Given the description of an element on the screen output the (x, y) to click on. 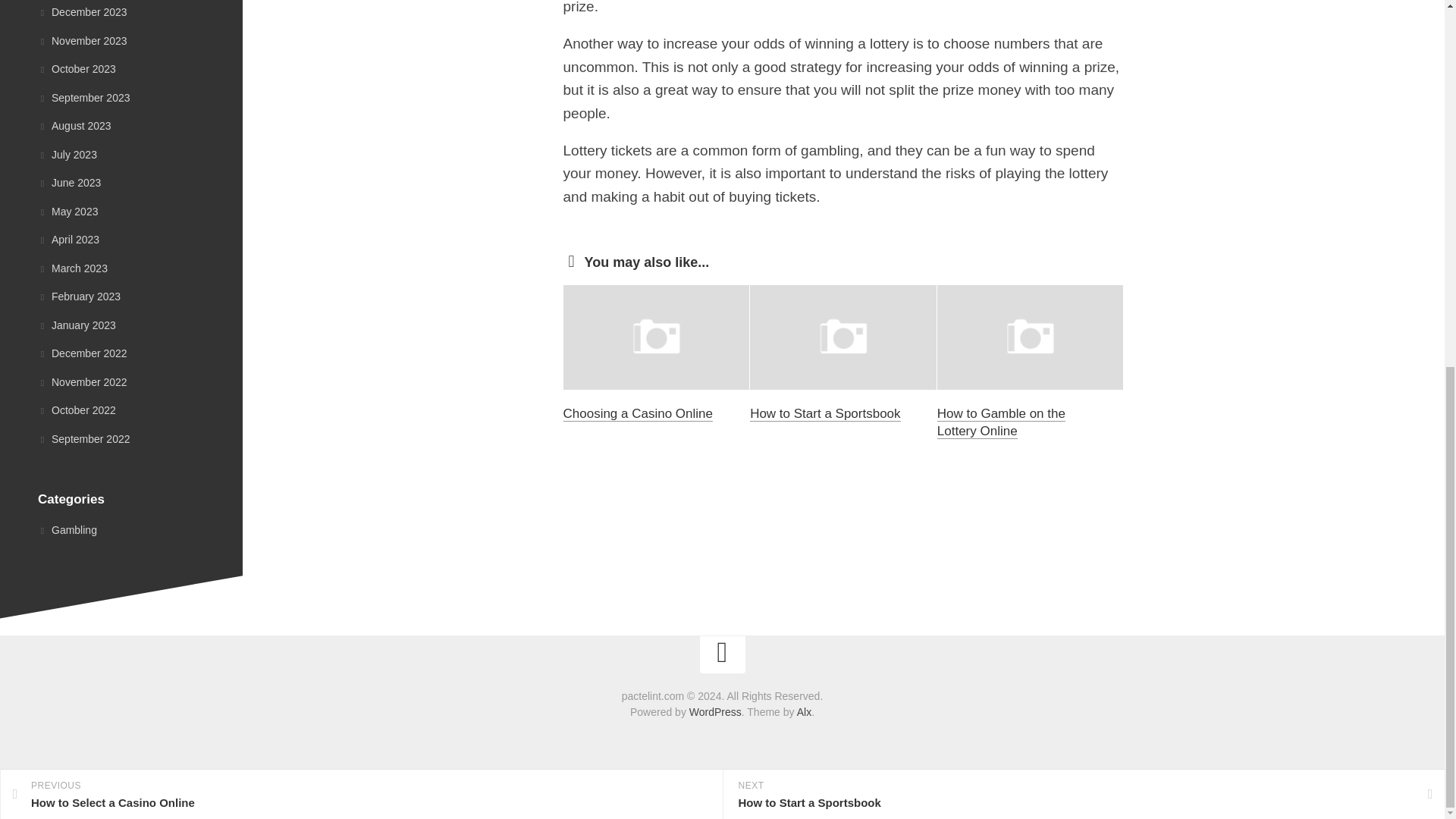
December 2023 (82, 11)
June 2023 (68, 182)
September 2023 (84, 97)
October 2022 (76, 410)
Choosing a Casino Online (637, 413)
July 2023 (67, 153)
May 2023 (67, 211)
How to Start a Sportsbook (824, 413)
January 2023 (76, 325)
August 2023 (74, 125)
February 2023 (78, 296)
November 2023 (82, 39)
November 2022 (82, 381)
October 2023 (76, 69)
April 2023 (68, 239)
